Given the description of an element on the screen output the (x, y) to click on. 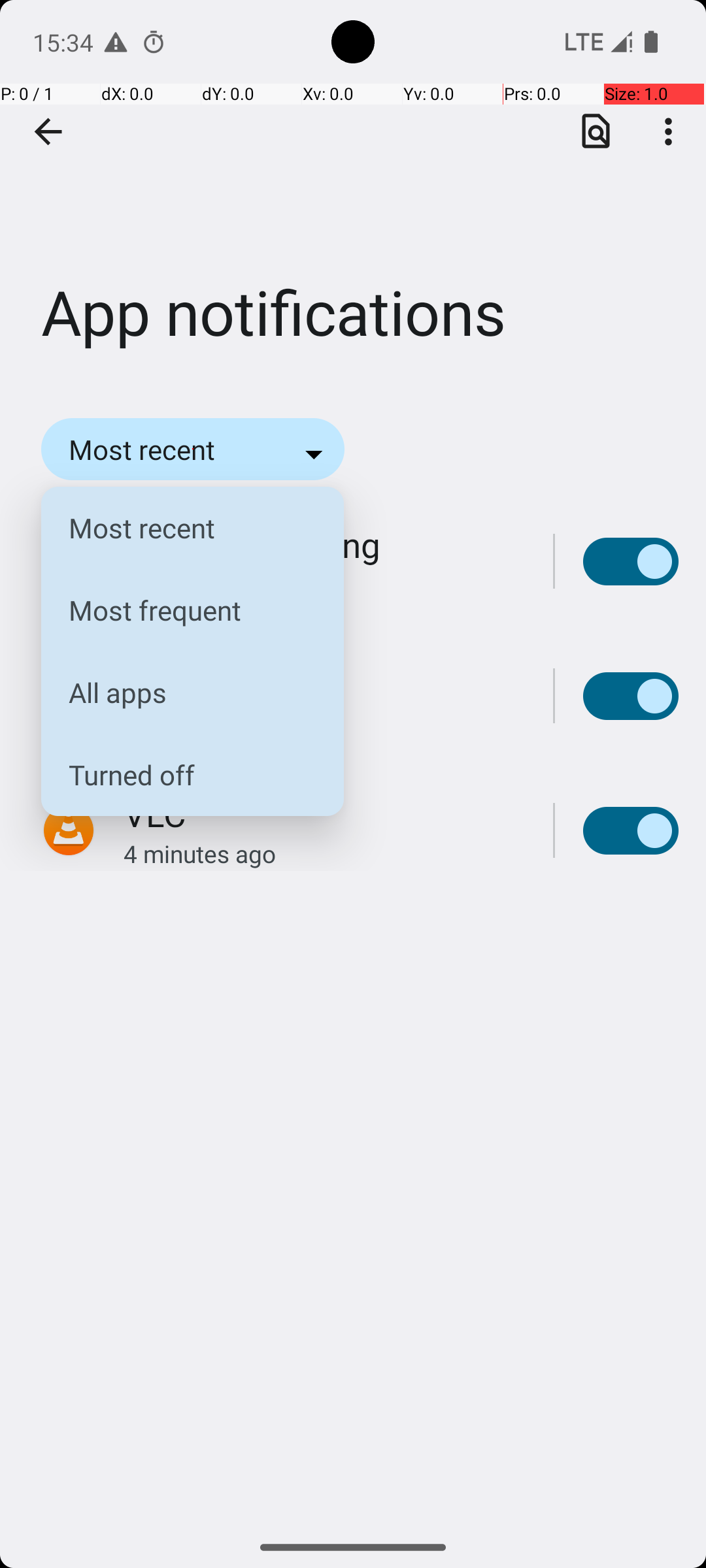
Most recent Element type: android.widget.TextView (182, 527)
Most frequent Element type: android.widget.TextView (182, 610)
All apps Element type: android.widget.TextView (182, 692)
Turned off Element type: android.widget.TextView (182, 774)
